Given the description of an element on the screen output the (x, y) to click on. 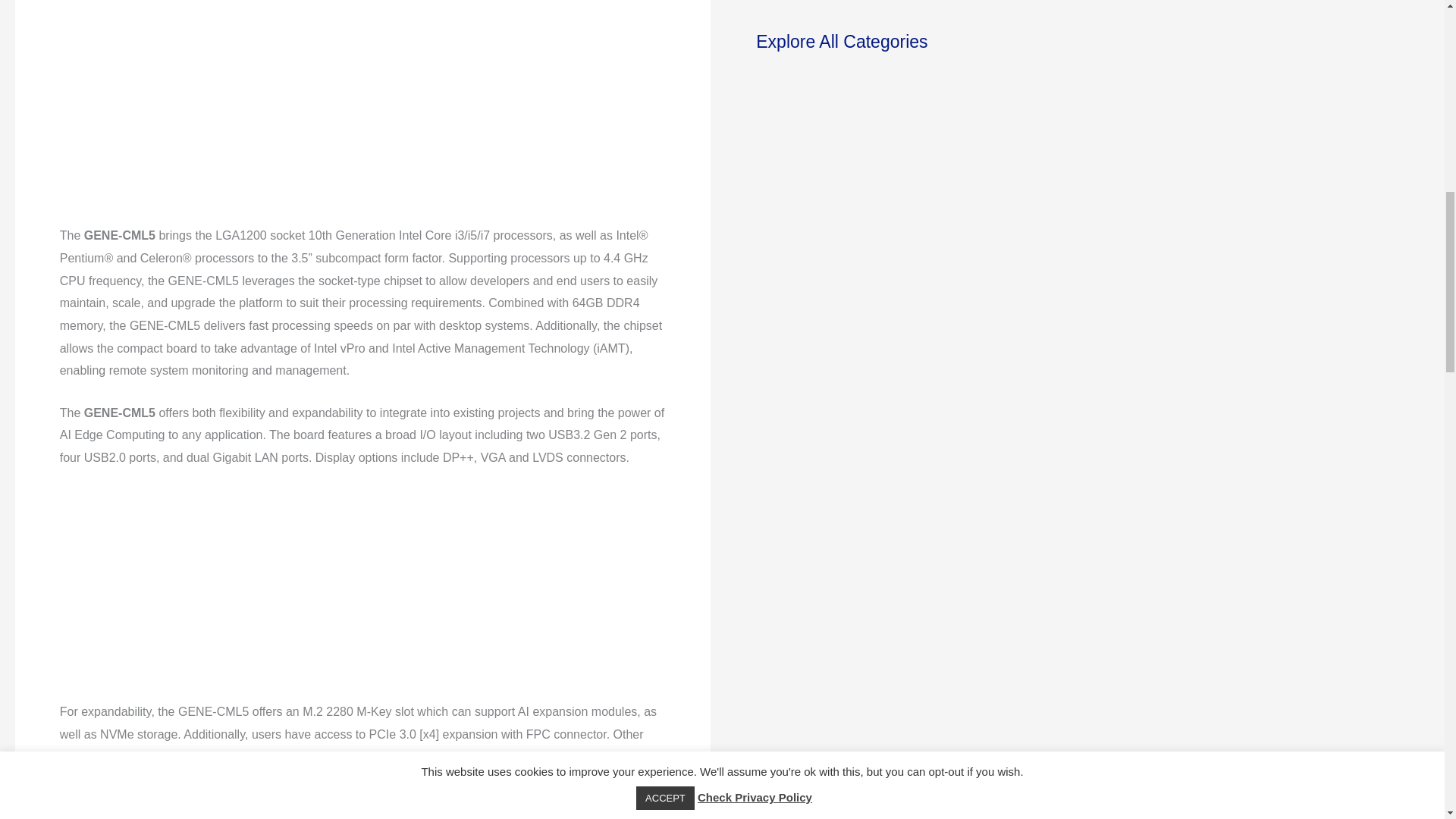
Advertisement (359, 594)
